Given the description of an element on the screen output the (x, y) to click on. 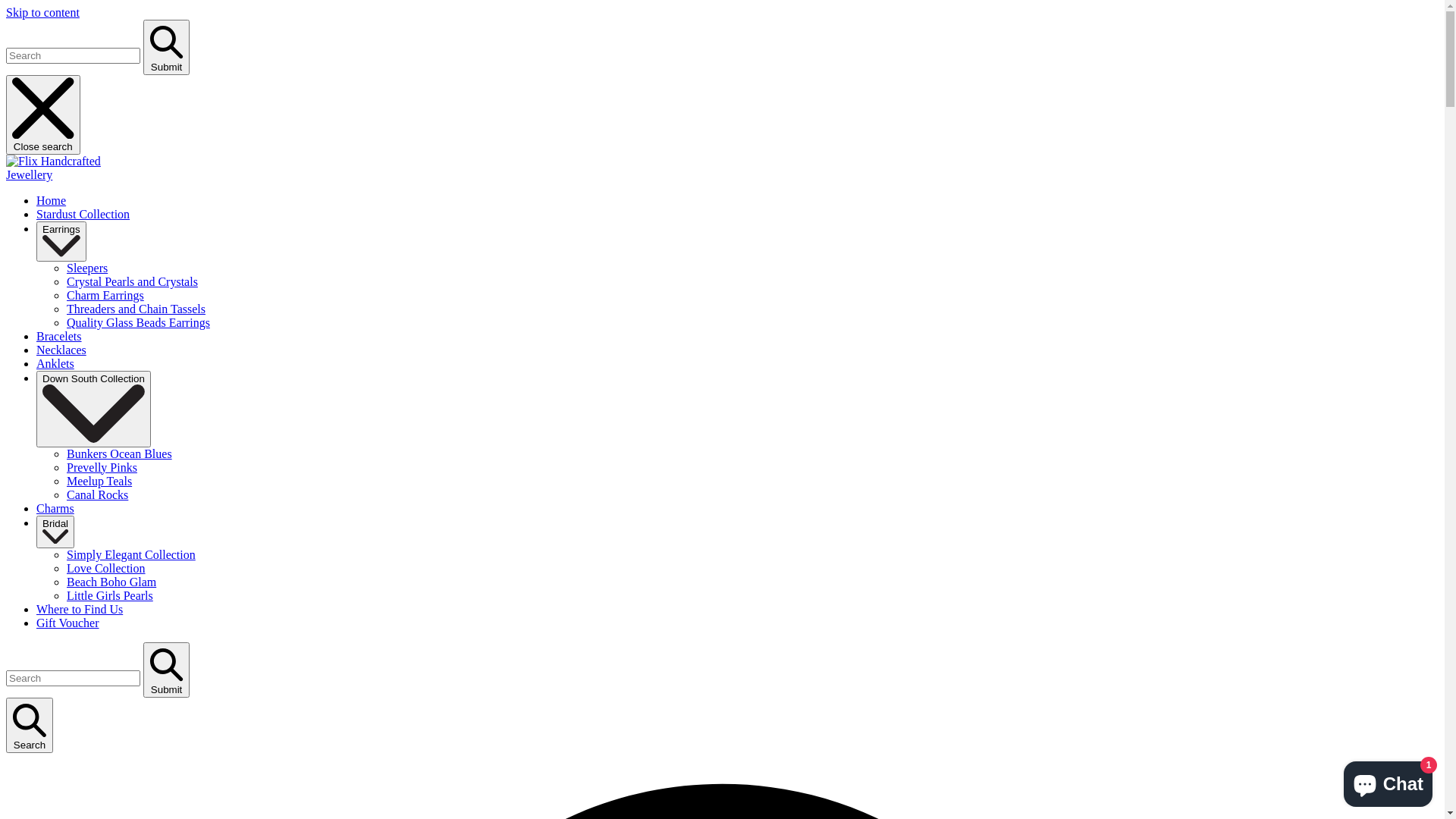
Beach Boho Glam Element type: text (111, 581)
Charm Earrings Element type: text (105, 294)
Necklaces Element type: text (61, 349)
Skip to content Element type: text (42, 12)
Prevelly Pinks Element type: text (101, 467)
Crystal Pearls and Crystals Element type: text (131, 281)
Sleepers Element type: text (86, 267)
Threaders and Chain Tassels Element type: text (135, 308)
Canal Rocks Element type: text (97, 494)
Simply Elegant Collection Element type: text (130, 554)
Bracelets Element type: text (58, 335)
Meelup Teals Element type: text (98, 480)
Where to Find Us Element type: text (79, 608)
Quality Glass Beads Earrings Element type: text (138, 322)
Bunkers Ocean Blues Element type: text (119, 453)
Shopify online store chat Element type: hover (1388, 780)
Submit Element type: text (166, 669)
Home Element type: text (50, 200)
Gift Voucher Element type: text (67, 622)
Anklets Element type: text (55, 363)
Stardust Collection Element type: text (82, 213)
Submit Element type: text (166, 47)
Close search Element type: text (43, 115)
Search Element type: text (29, 725)
Love Collection Element type: text (105, 567)
Little Girls Pearls Element type: text (109, 595)
Charms Element type: text (55, 508)
